Given the description of an element on the screen output the (x, y) to click on. 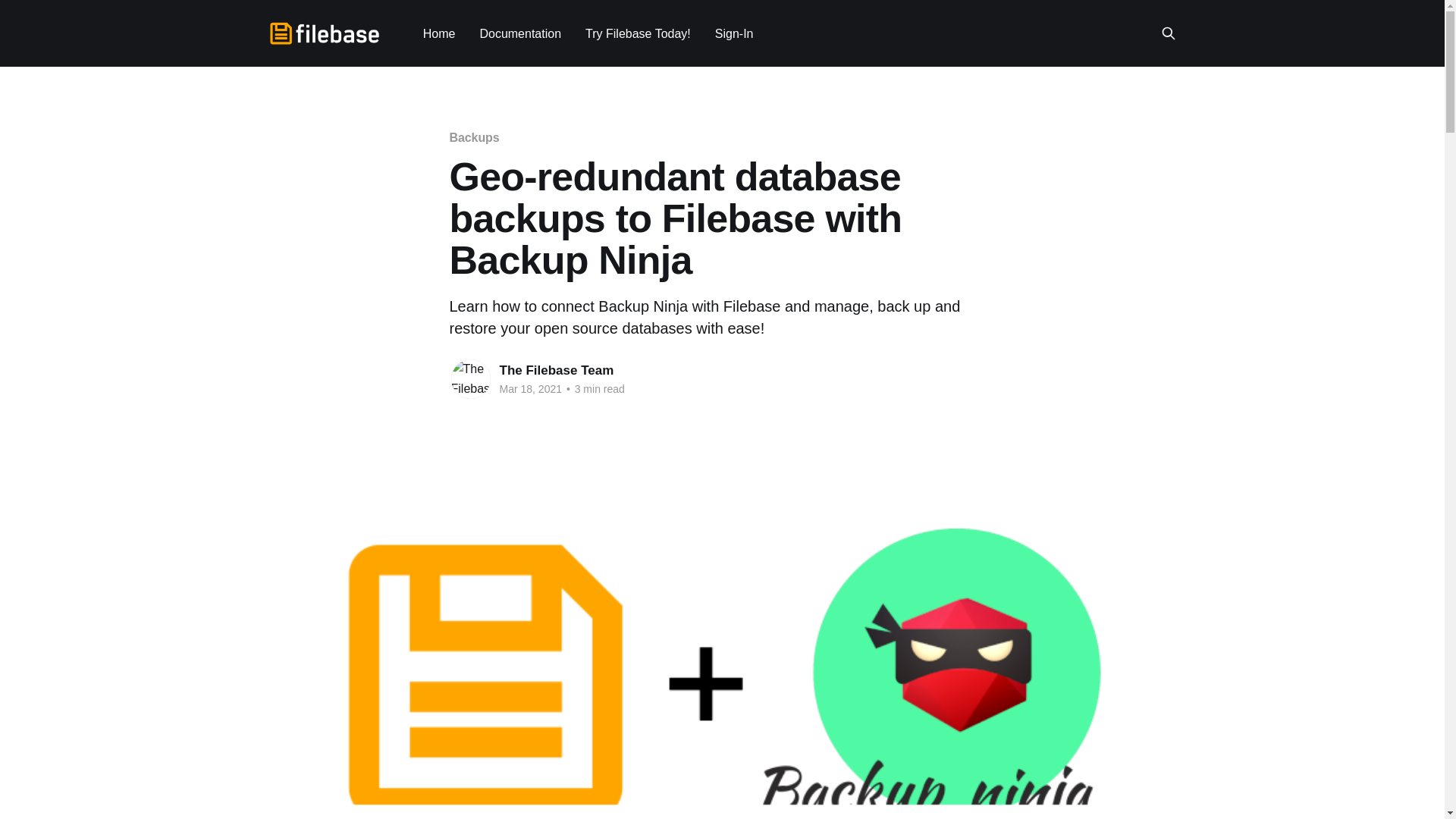
Documentation (519, 33)
Home (439, 33)
Try Filebase Today! (637, 33)
Sign-In (734, 33)
The Filebase Team (555, 370)
Backups (473, 137)
